Given the description of an element on the screen output the (x, y) to click on. 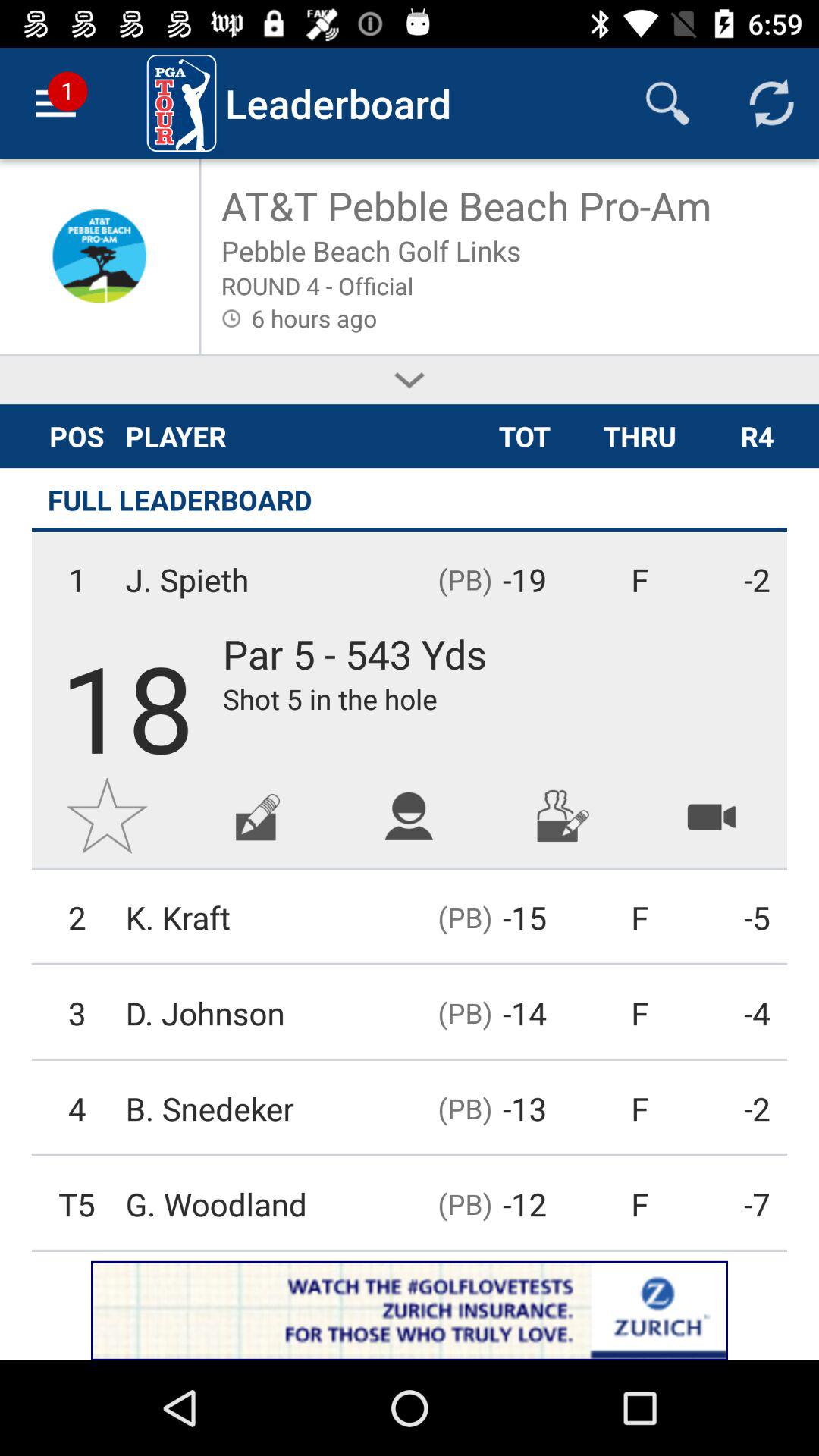
click for video (711, 815)
